Given the description of an element on the screen output the (x, y) to click on. 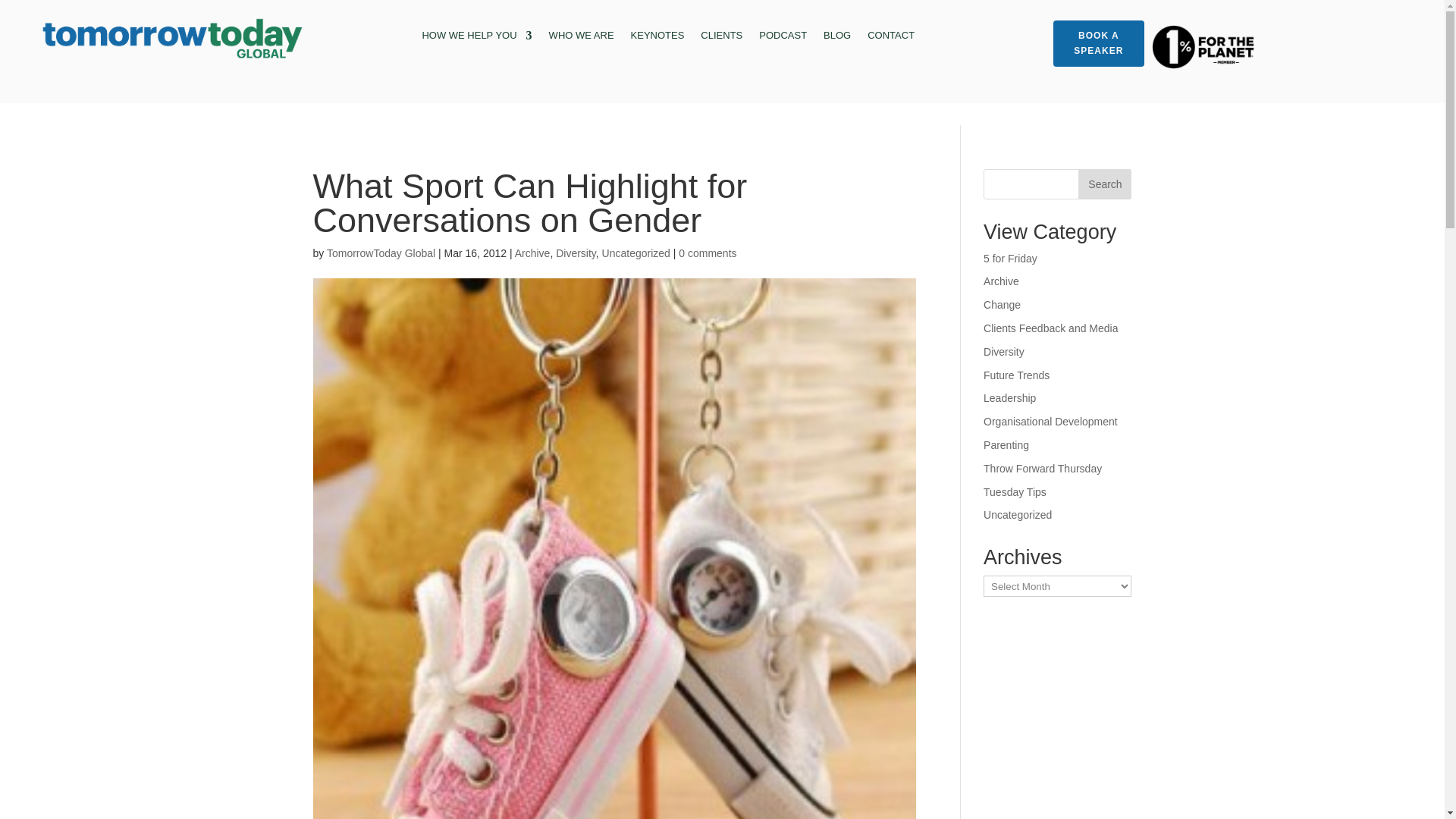
Organisational Development (1051, 421)
HOW WE HELP YOU (476, 38)
BLOG (837, 38)
Search (1104, 183)
Archive (1001, 281)
TomorrowToday Global (380, 253)
Parenting (1006, 444)
Diversity (575, 253)
Clients Feedback and Media (1051, 328)
Uncategorized (1017, 514)
Tuesday Tips (1015, 491)
5 for Friday (1010, 258)
Change (1002, 304)
Future Trends (1016, 375)
KEYNOTES (657, 38)
